Given the description of an element on the screen output the (x, y) to click on. 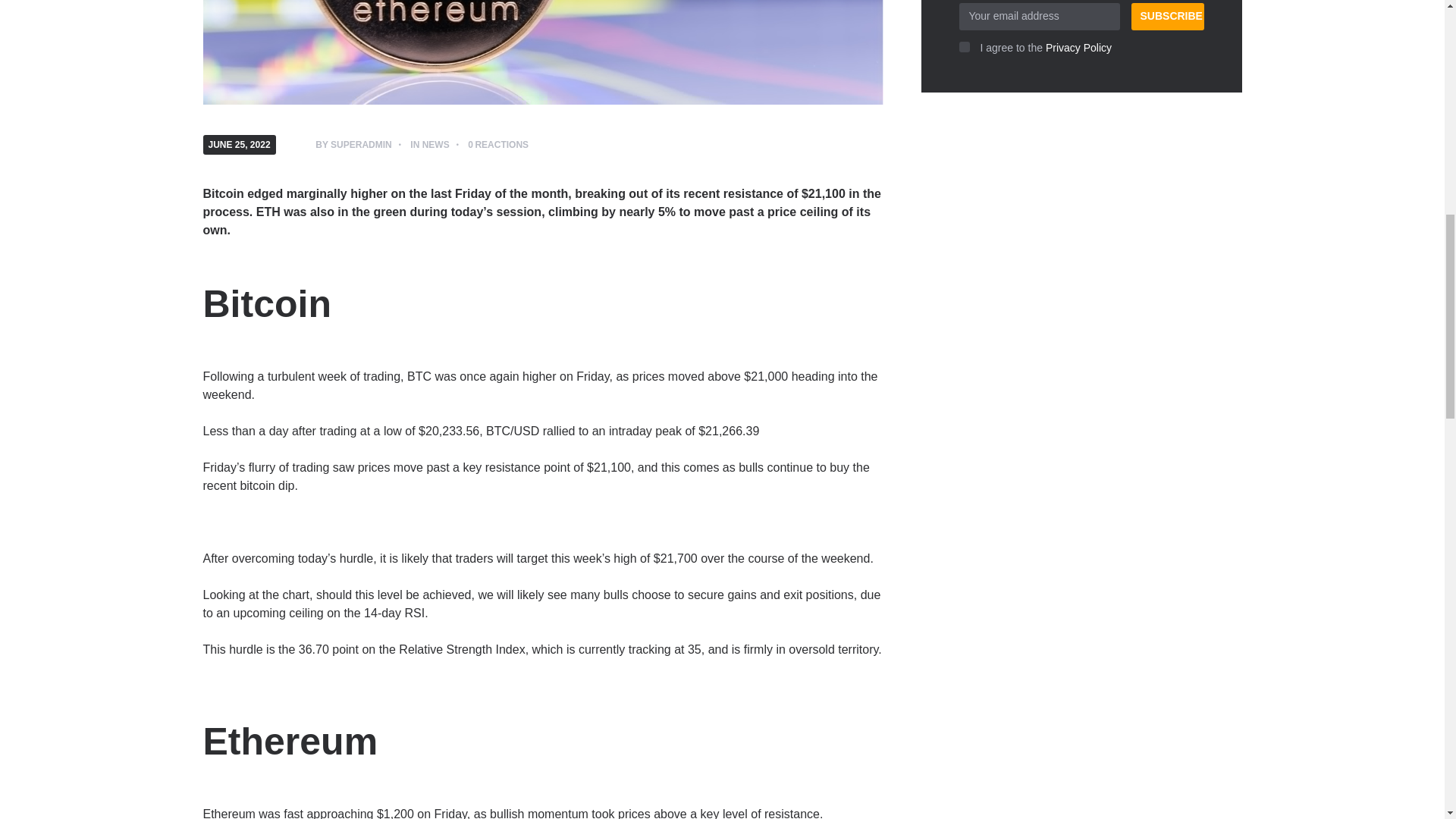
NEWS (435, 144)
Subscribe (1167, 16)
0REACTIONS (497, 144)
SUPERADMIN (360, 144)
